Given the description of an element on the screen output the (x, y) to click on. 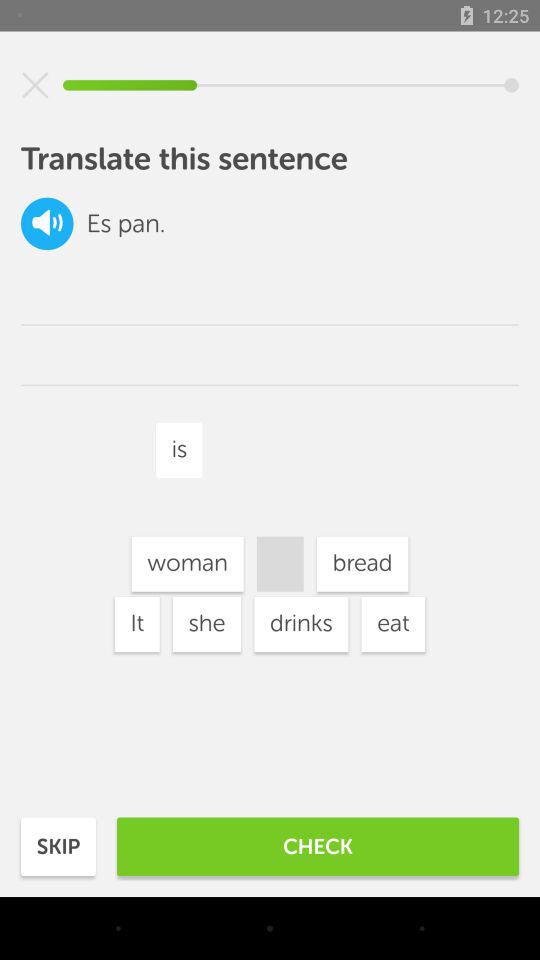
press the item below the woman item (136, 624)
